Given the description of an element on the screen output the (x, y) to click on. 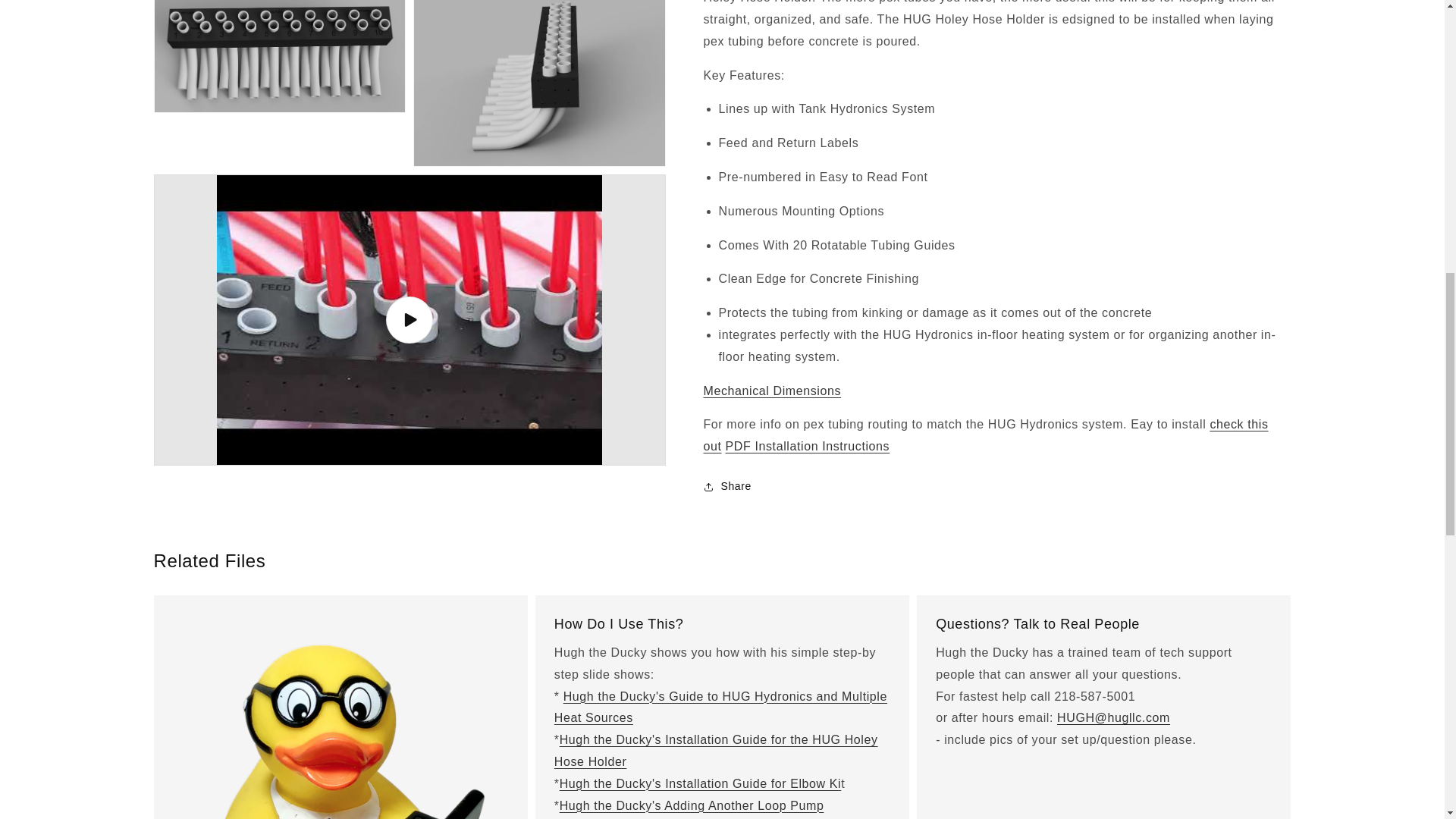
H4 PDF Installation Instructions (807, 342)
